Given the description of an element on the screen output the (x, y) to click on. 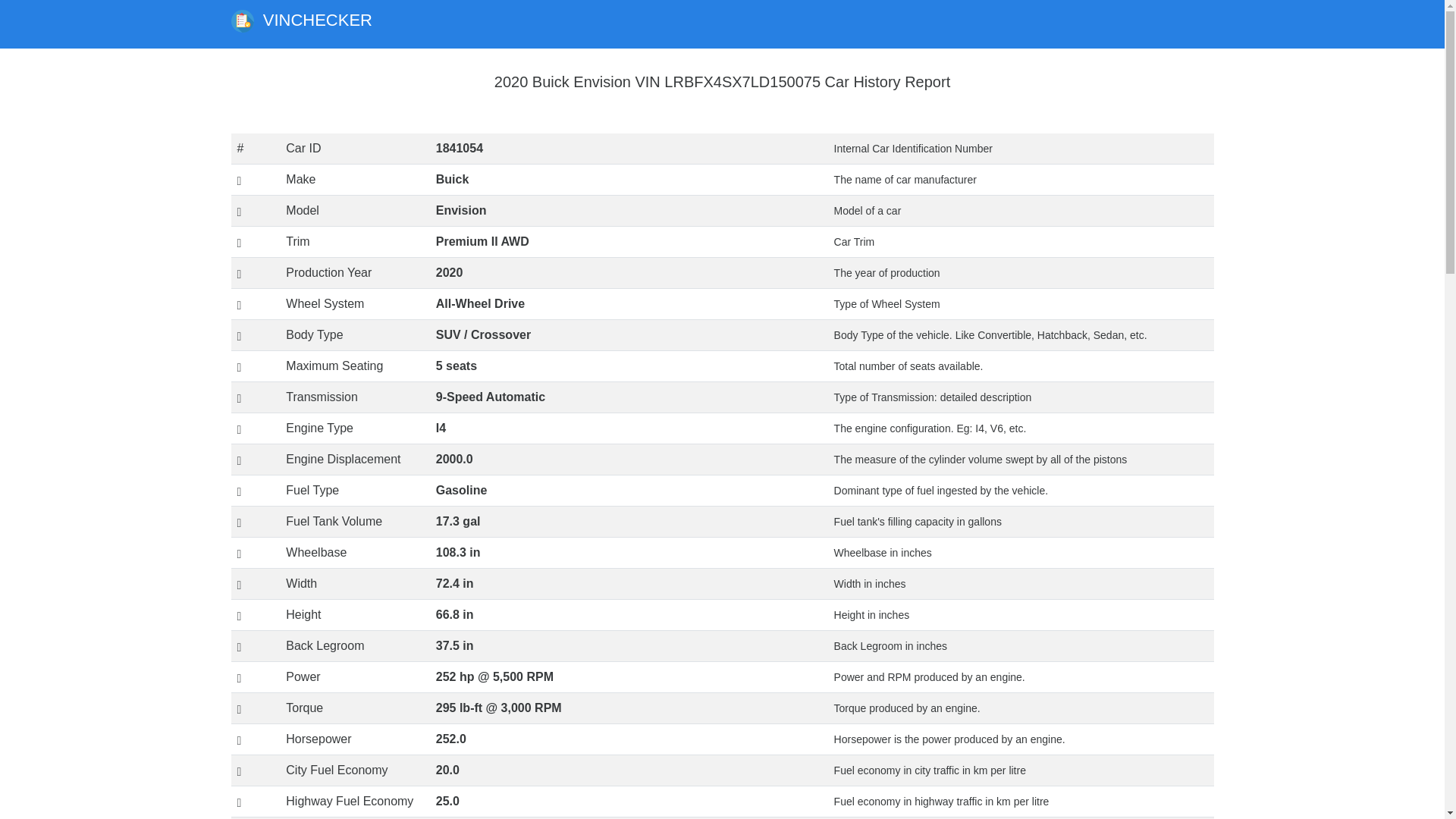
  VINCHECKER (300, 23)
VinChecker.ME (300, 23)
VinChecker.ME (241, 20)
